Given the description of an element on the screen output the (x, y) to click on. 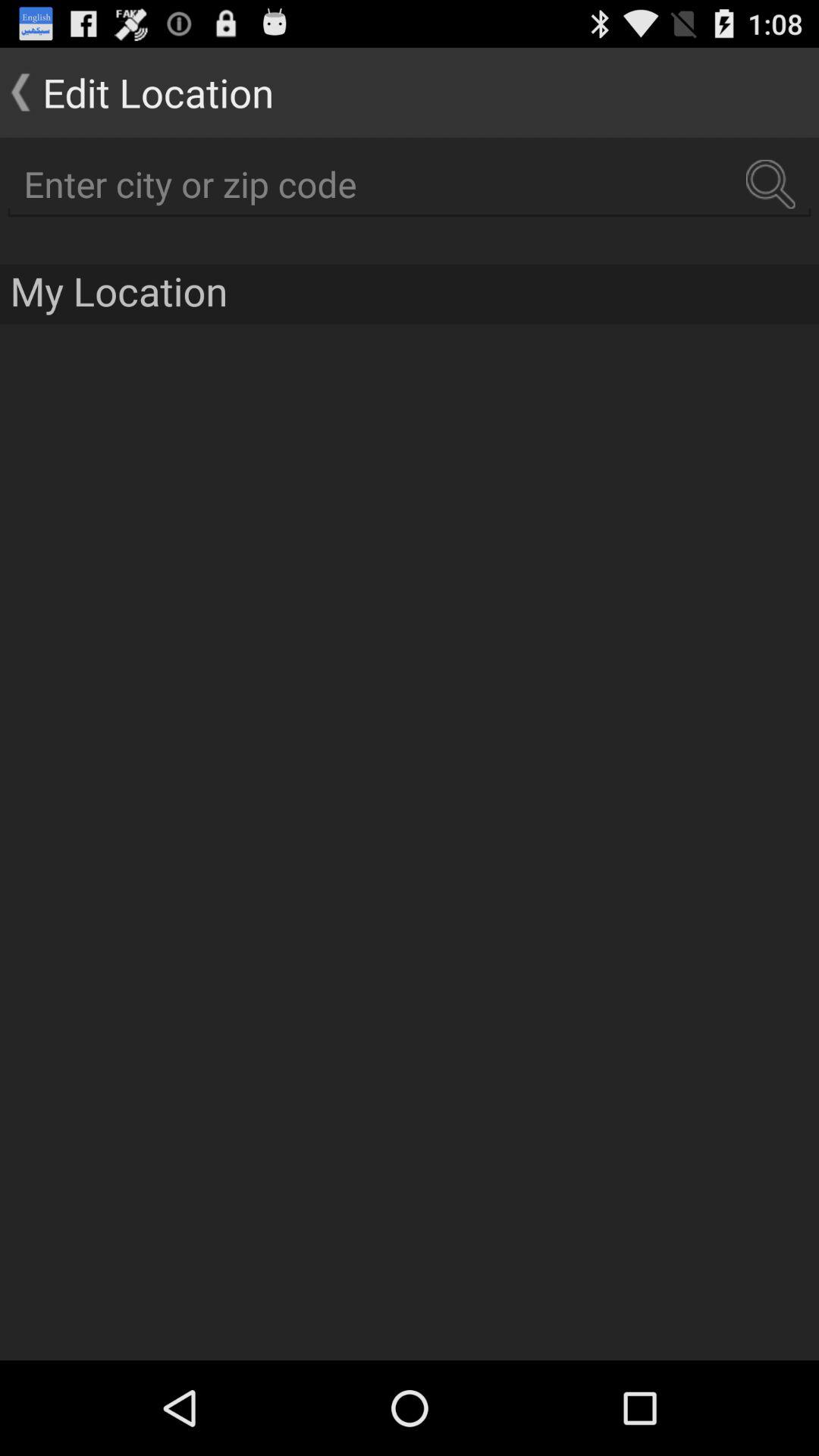
click edit location item (137, 91)
